Given the description of an element on the screen output the (x, y) to click on. 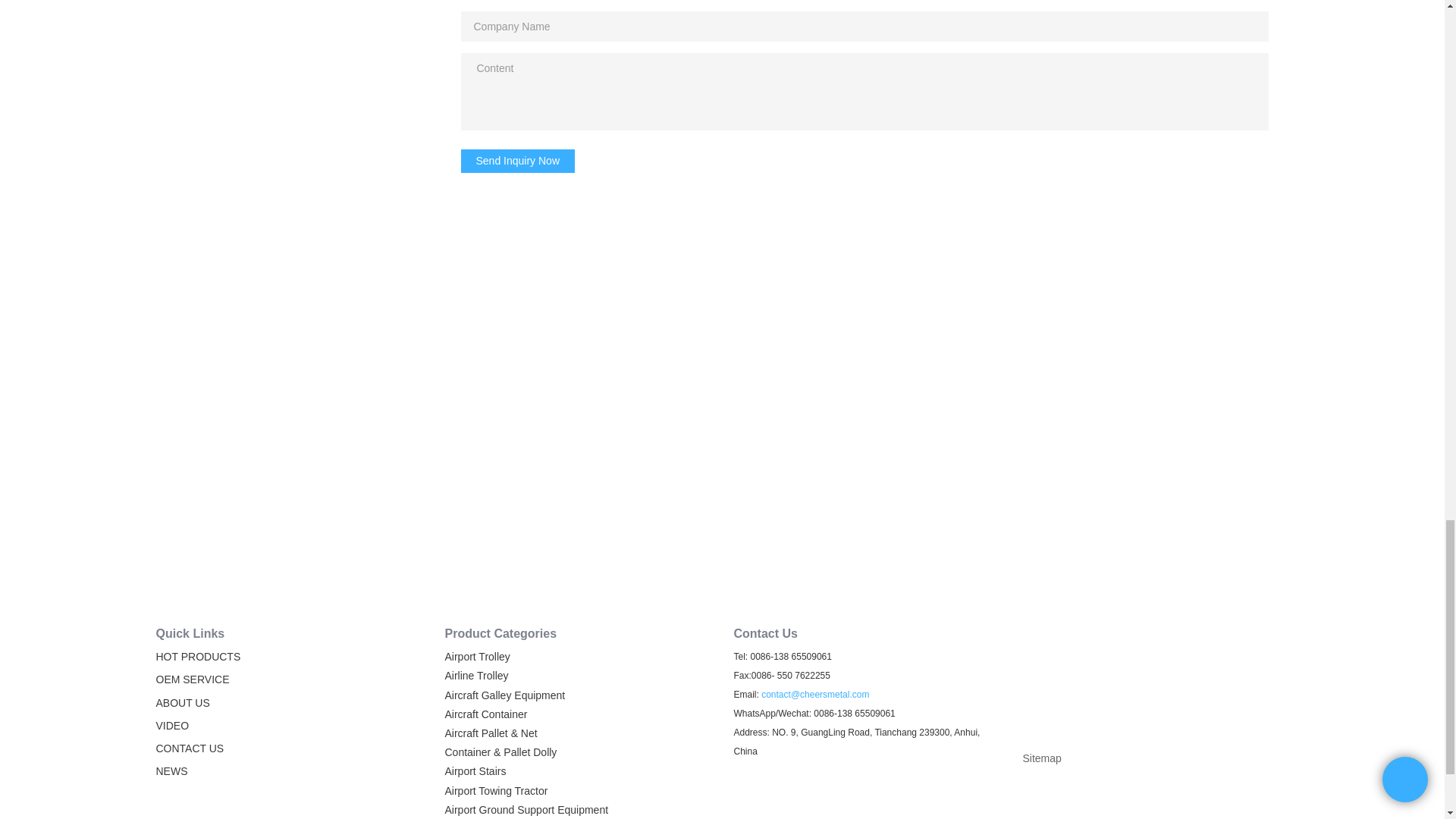
Send Inquiry Now (518, 160)
